Given the description of an element on the screen output the (x, y) to click on. 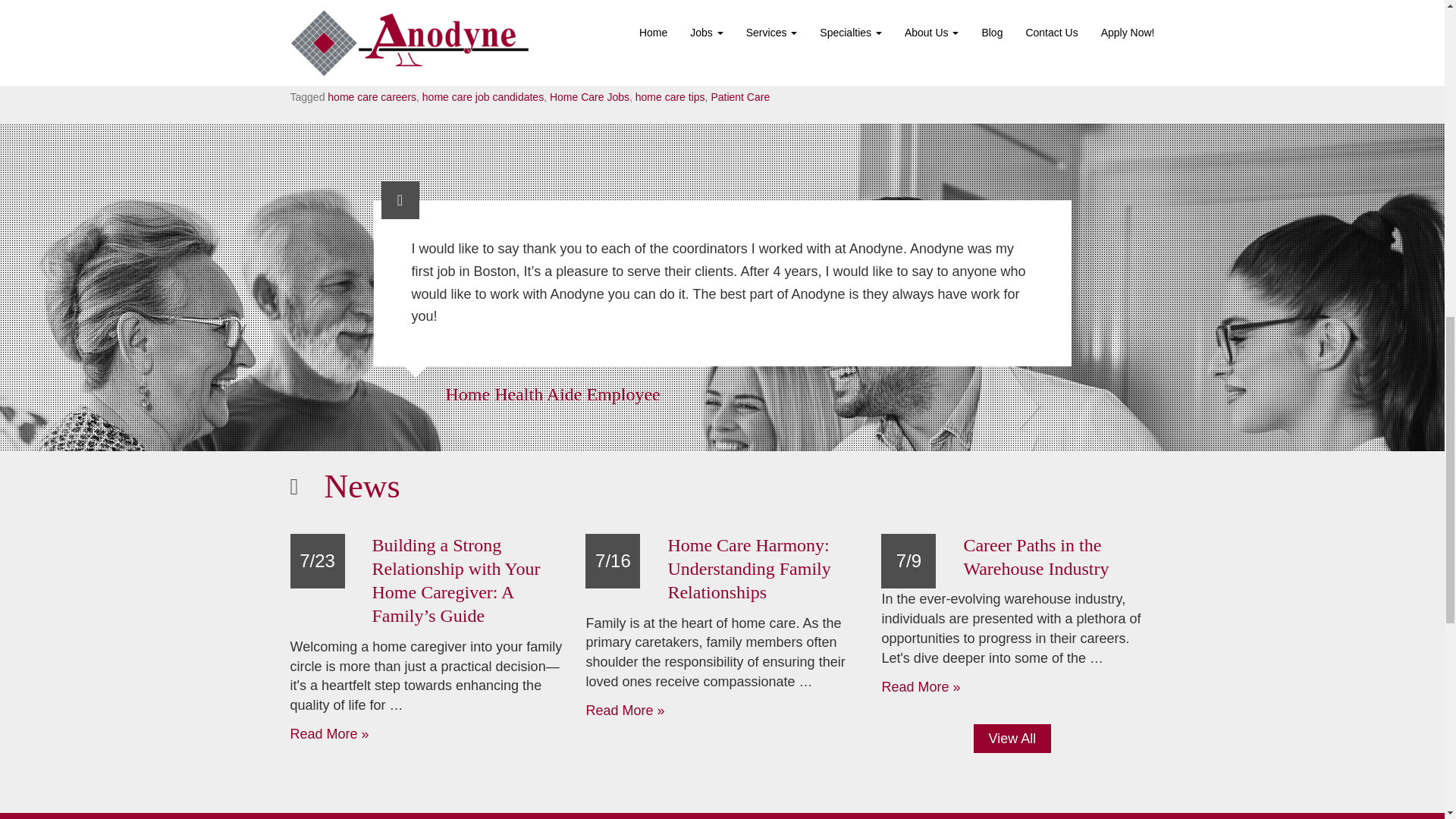
More (445, 29)
